Given the description of an element on the screen output the (x, y) to click on. 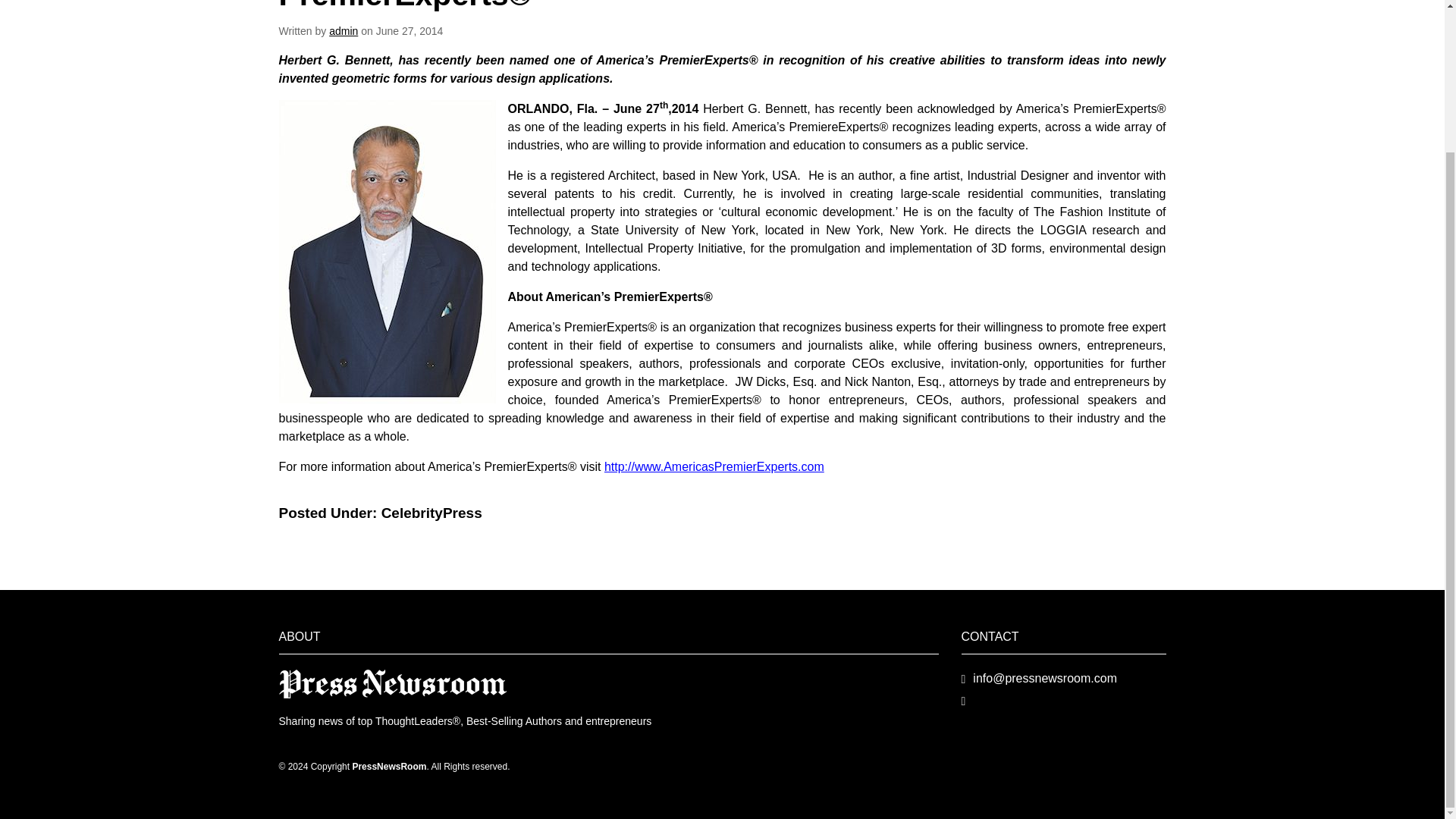
CelebrityPress (431, 512)
admin (343, 30)
PressNewsRoom (392, 683)
Posts by admin (343, 30)
